Given the description of an element on the screen output the (x, y) to click on. 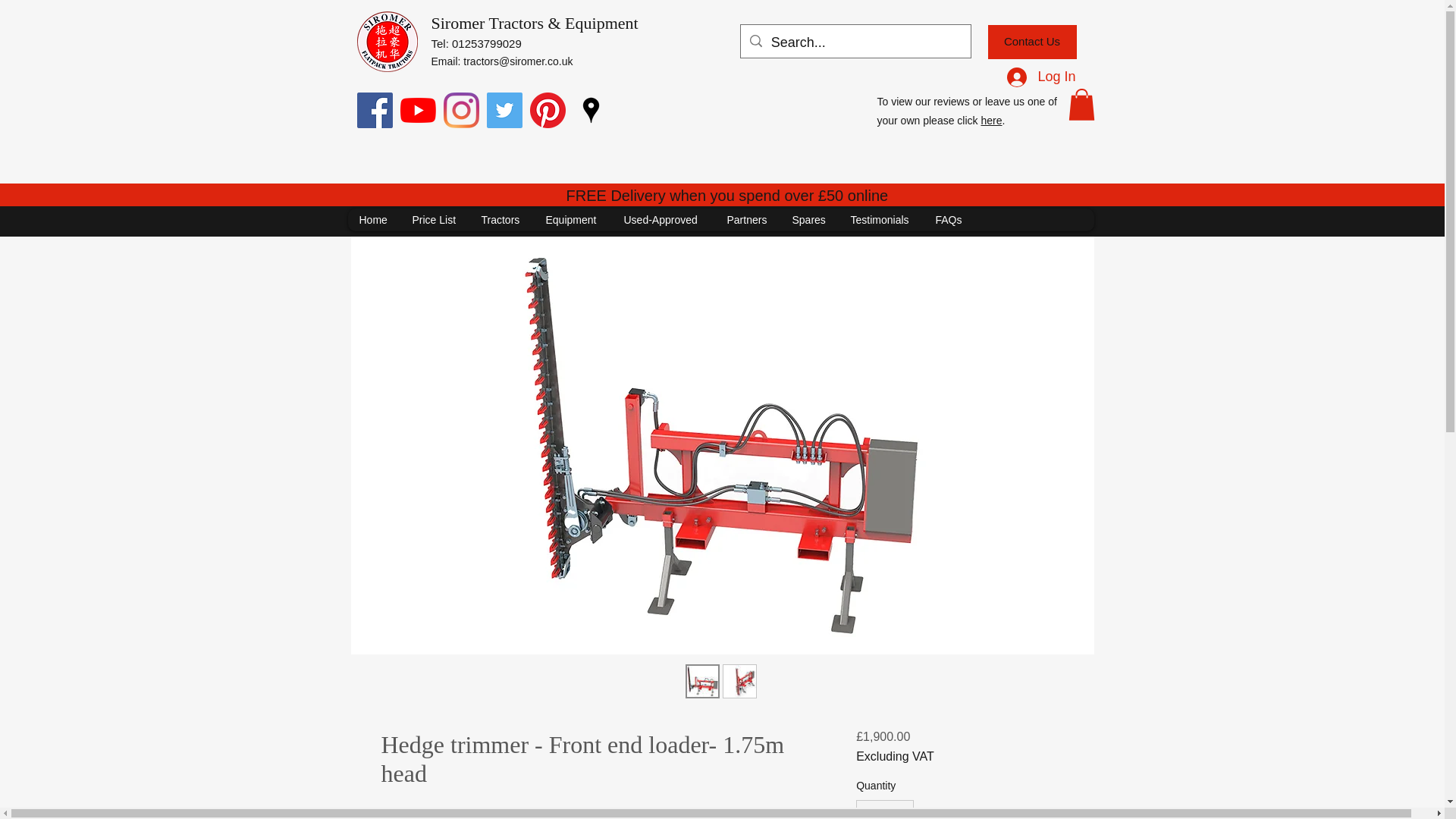
Log In (1040, 77)
Testimonials (880, 219)
Home (372, 219)
Tractors (500, 219)
Contact Us (1031, 41)
Equipment (572, 219)
Partners (746, 219)
FAQs (947, 219)
Spares (808, 219)
Price List (434, 219)
1 (885, 809)
Used-Approved (662, 219)
